Given the description of an element on the screen output the (x, y) to click on. 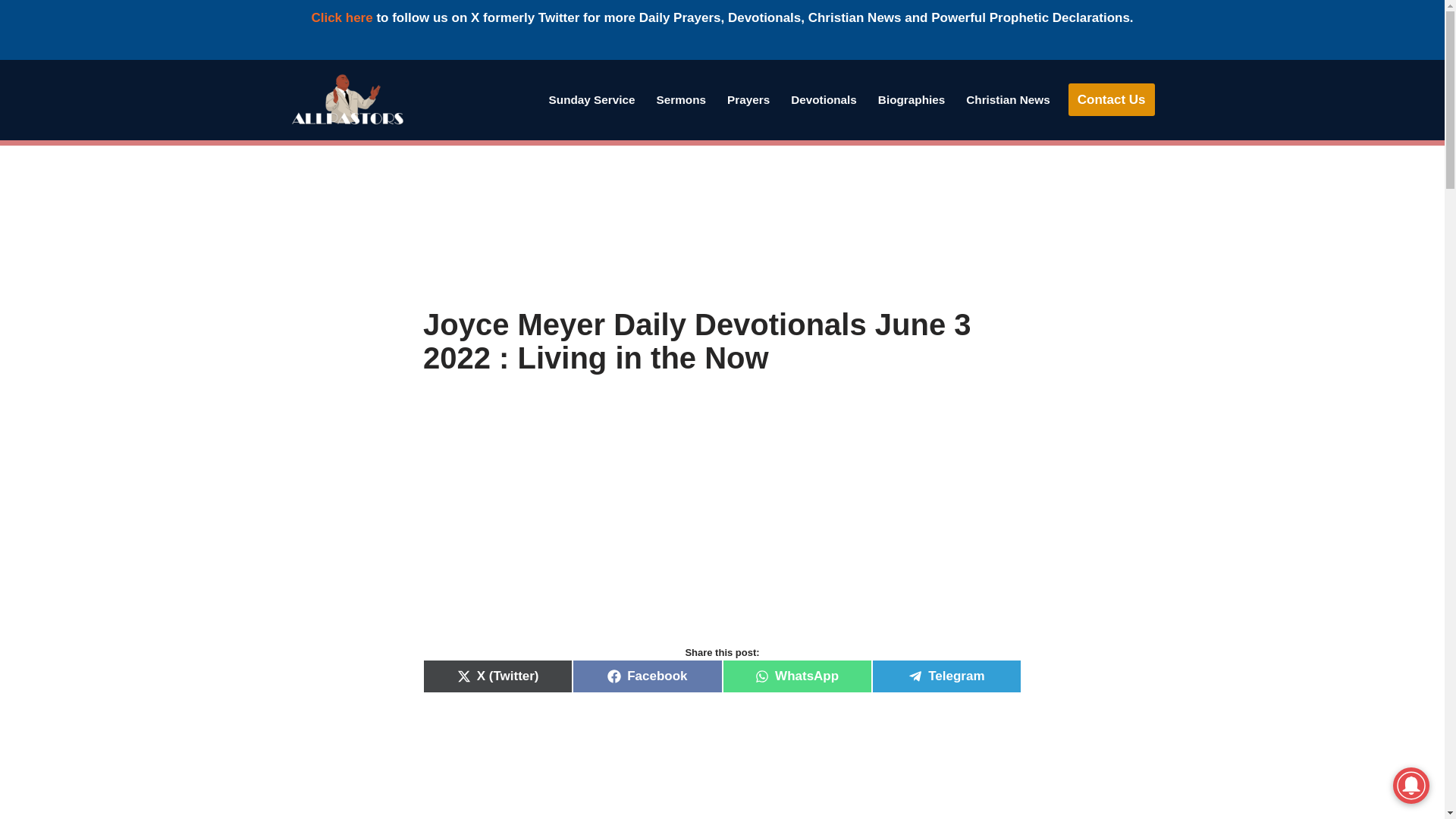
Click here (341, 17)
SERMONS ONLINE (681, 99)
Sunday Service (591, 99)
Devotionals (823, 99)
Advertisement (722, 762)
Advertisement (722, 526)
Skip to content (11, 91)
Advertisement (722, 226)
WhatsApp (796, 676)
Prayers (748, 99)
